Given the description of an element on the screen output the (x, y) to click on. 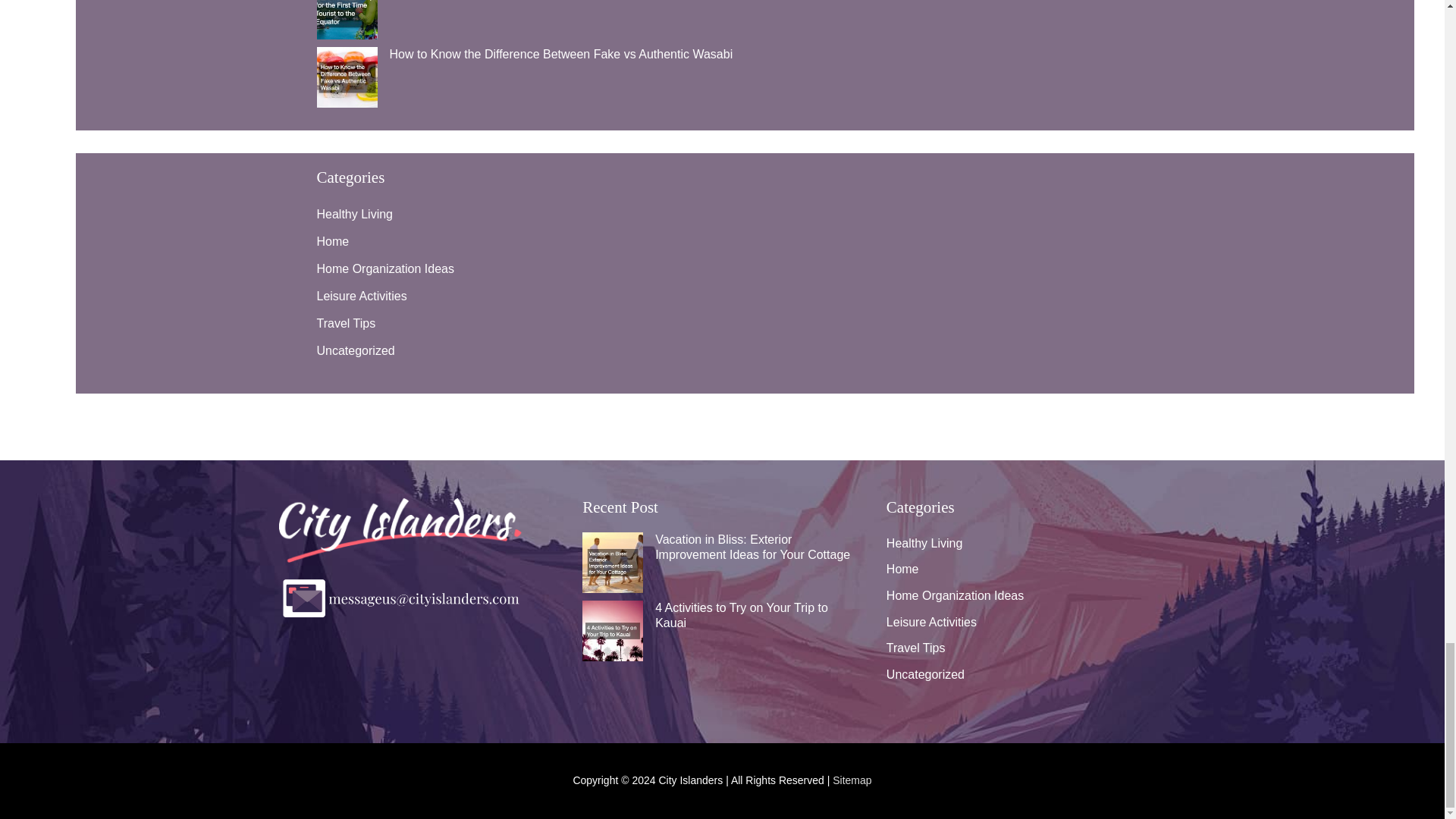
Home Organization Ideas (385, 268)
Healthy Living (355, 214)
How to Know the Difference Between Fake vs Authentic Wasabi (561, 52)
Leisure Activities (362, 295)
Home (333, 241)
4 Activities to Try on Your Trip to Kauai (741, 614)
Travel Tips (346, 323)
Uncategorized (355, 350)
